Given the description of an element on the screen output the (x, y) to click on. 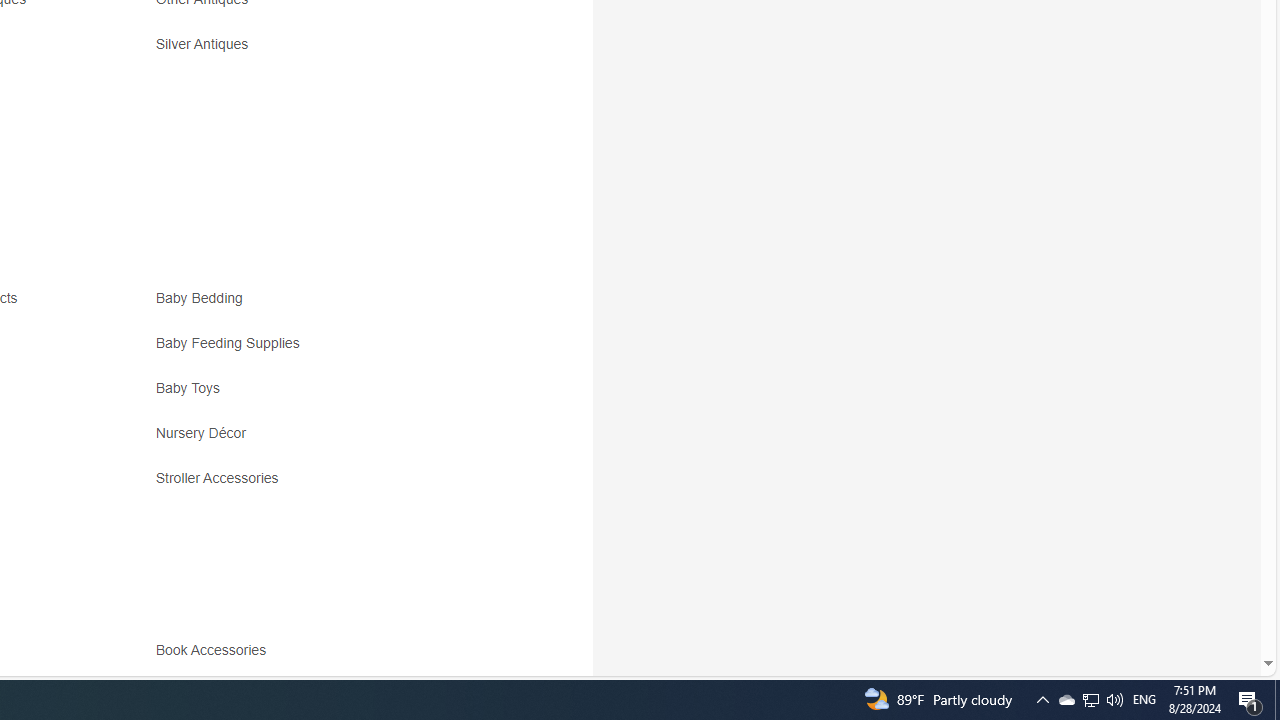
Book Accessories (332, 657)
Baby Feeding Supplies (231, 343)
Stroller Accessories (221, 478)
Book Accessories (215, 650)
Silver Antiques (206, 43)
Baby Toys (332, 395)
Baby Feeding Supplies (332, 349)
Baby Toys (192, 388)
Stroller Accessories (332, 485)
Baby Bedding (332, 305)
Silver Antiques (332, 51)
Baby Bedding (203, 298)
